Given the description of an element on the screen output the (x, y) to click on. 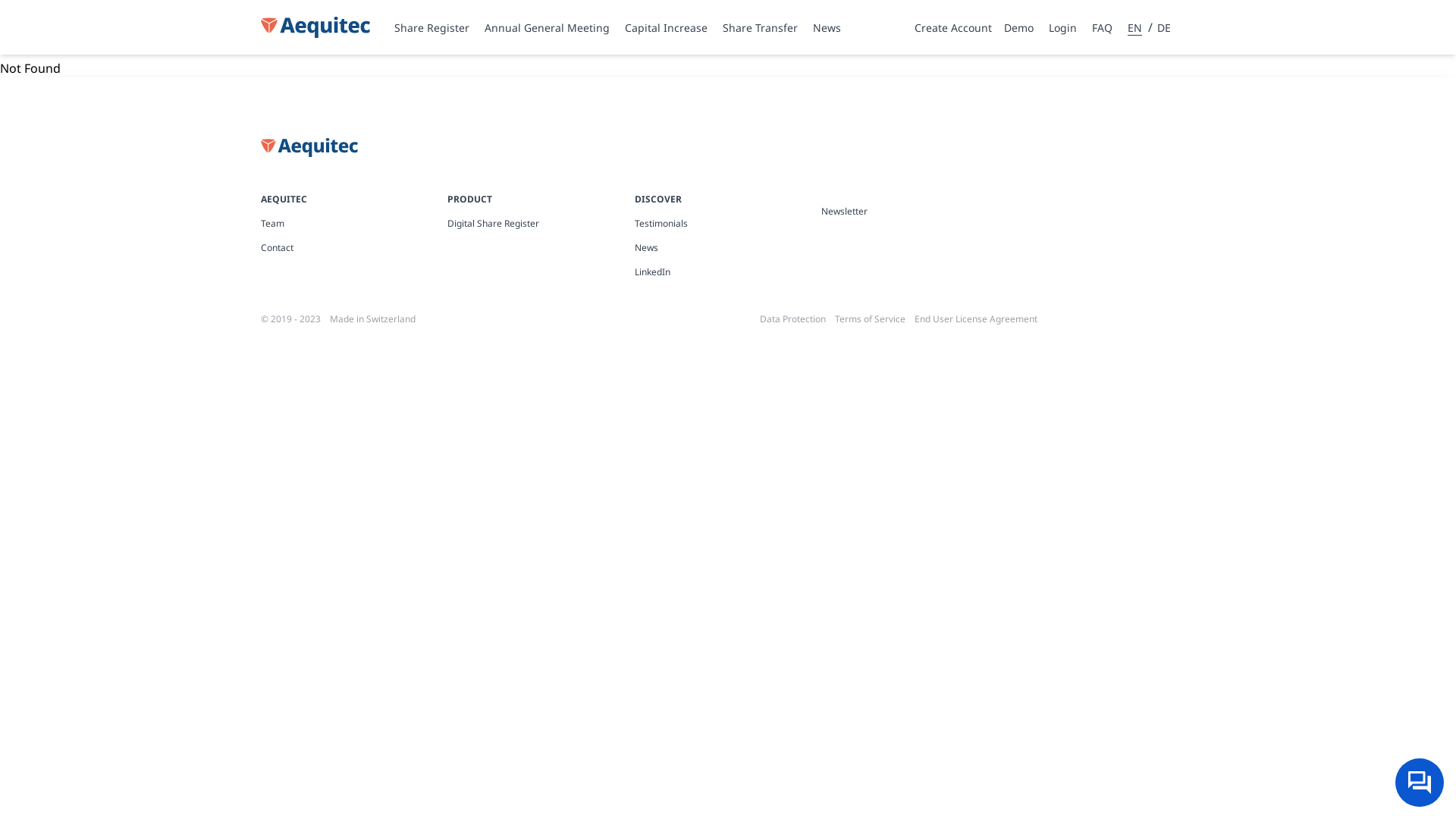
EN Element type: text (1137, 27)
LinkedIn Element type: text (727, 272)
Annual General Meeting Element type: text (546, 27)
Contact Element type: text (353, 247)
Testimonials Element type: text (727, 223)
News Element type: text (727, 247)
FAQ Element type: text (1108, 27)
Share Transfer Element type: text (759, 27)
AEQUITEC Element type: text (283, 198)
Login Element type: text (1068, 27)
Team Element type: text (353, 223)
DE Element type: text (1162, 27)
Newsletter Element type: text (914, 211)
Share Register Element type: text (431, 27)
End User License Agreement Element type: text (975, 319)
Digital Share Register Element type: text (540, 223)
Create Account Element type: text (959, 27)
News Element type: text (826, 27)
Demo Element type: text (1024, 27)
Terms of Service Element type: text (869, 319)
Data Protection Element type: text (792, 319)
Capital Increase Element type: text (665, 27)
